Given the description of an element on the screen output the (x, y) to click on. 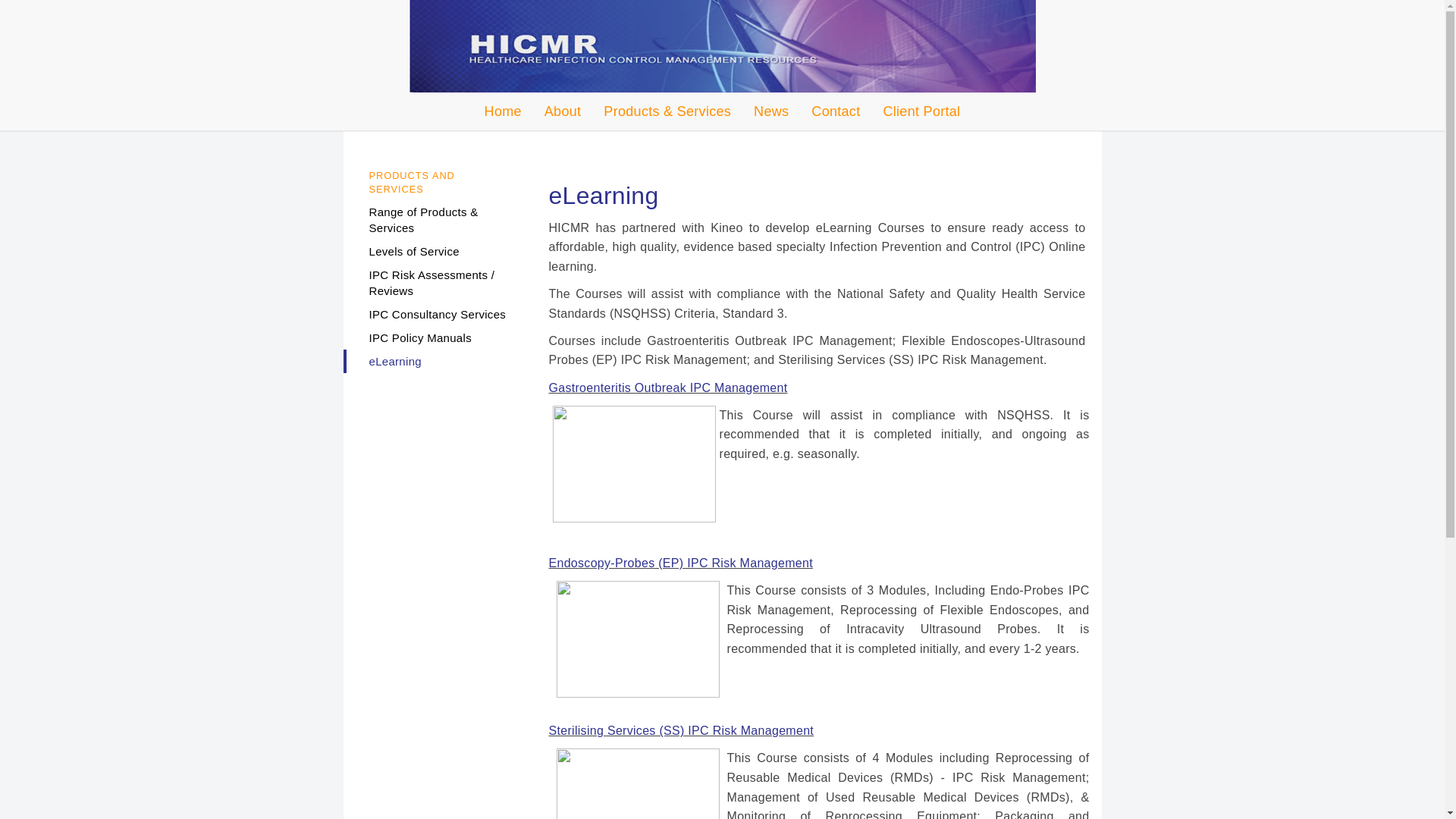
Products & Services Element type: text (667, 111)
IPC Consultancy Services Element type: text (431, 314)
Contact Element type: text (835, 111)
Range of Products & Services Element type: text (431, 219)
Gastroenteritis Outbreak IPC Management Element type: text (668, 387)
Home Element type: text (503, 111)
Client Portal Element type: text (921, 111)
IPC Risk Assessments / Reviews Element type: text (431, 282)
News Element type: text (771, 111)
Endoscopy-Probes (EP) IPC Risk Management Element type: text (680, 562)
eLearning Element type: text (431, 361)
About Element type: text (563, 111)
Levels of Service Element type: text (431, 251)
IPC Policy Manuals Element type: text (431, 337)
Sterilising Services (SS) IPC Risk Management Element type: text (681, 730)
